Given the description of an element on the screen output the (x, y) to click on. 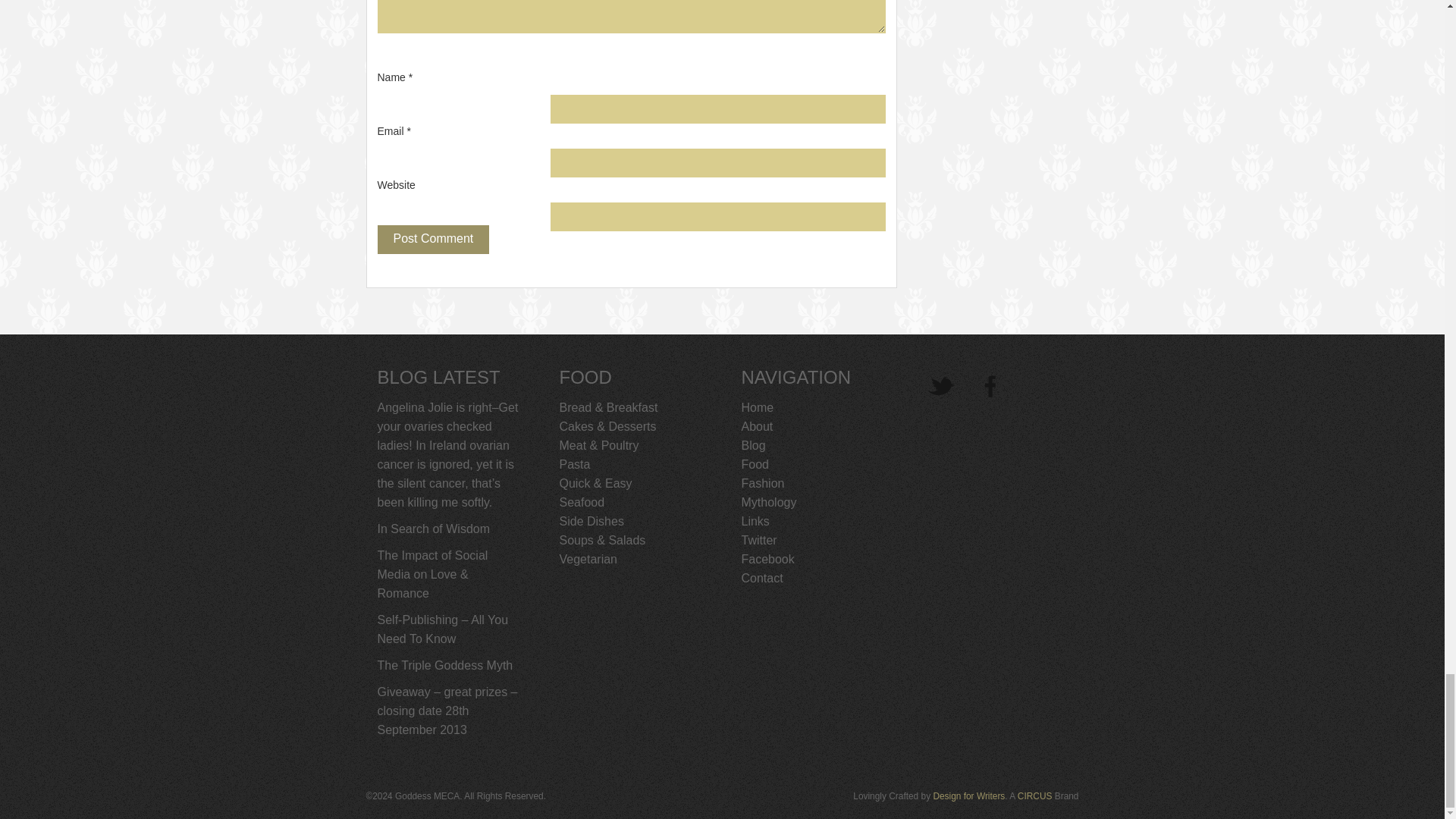
Permanent link to In Search of Wisdom (433, 528)
Permanent link to The Triple Goddess Myth (445, 665)
Post Comment (433, 239)
